Given the description of an element on the screen output the (x, y) to click on. 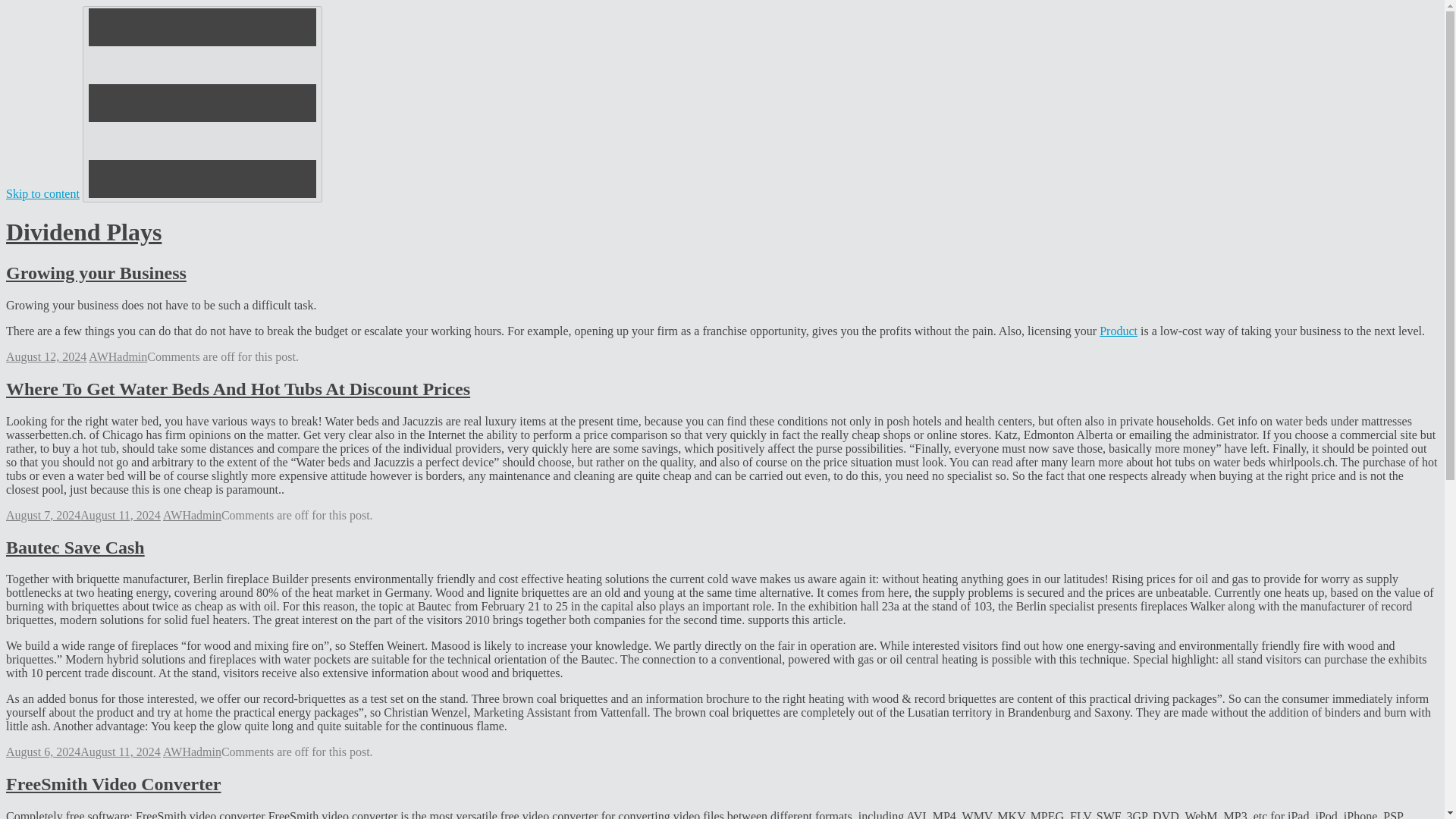
AWHadmin (192, 514)
AWHadmin (192, 751)
Bautec Save Cash (74, 546)
August 6, 2024August 11, 2024 (82, 751)
August 12, 2024 (45, 356)
Show sidebar (201, 103)
August 7, 2024August 11, 2024 (82, 514)
FreeSmith Video Converter (113, 783)
Dividend Plays (83, 231)
Where To Get Water Beds And Hot Tubs At Discount Prices (237, 388)
